Given the description of an element on the screen output the (x, y) to click on. 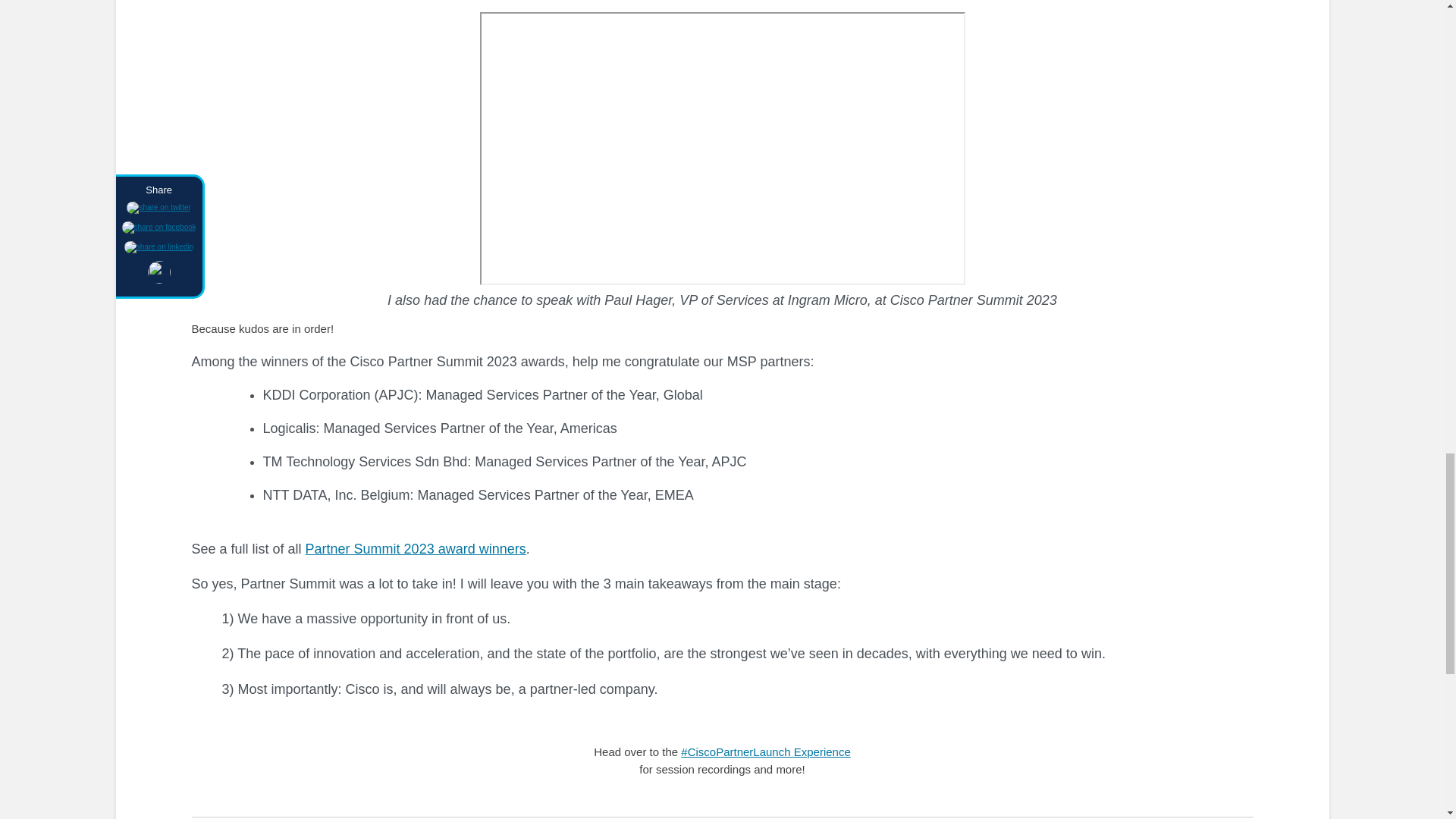
Partner Summit 2023 award winners (415, 548)
